Given the description of an element on the screen output the (x, y) to click on. 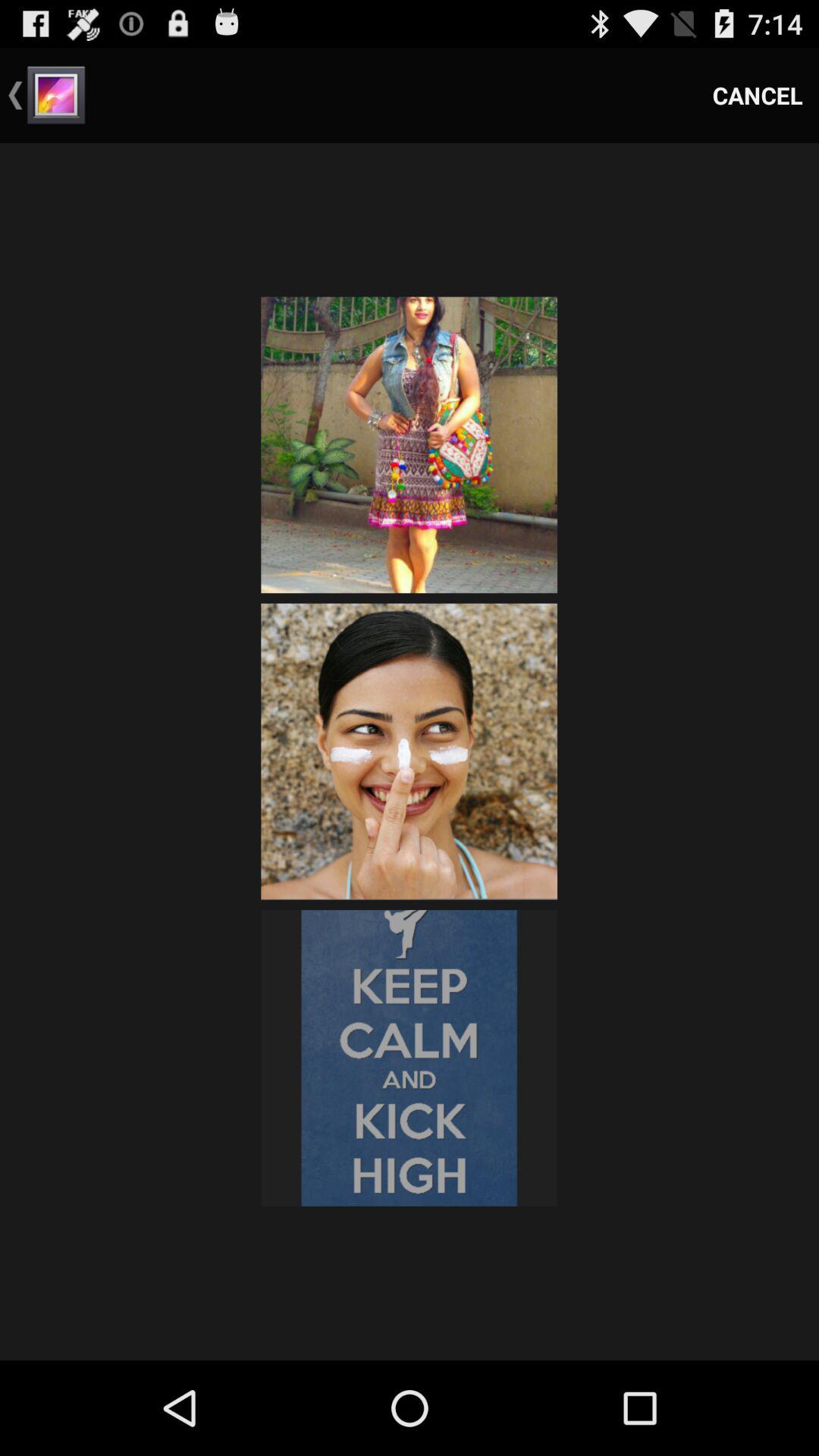
scroll to cancel (757, 95)
